Given the description of an element on the screen output the (x, y) to click on. 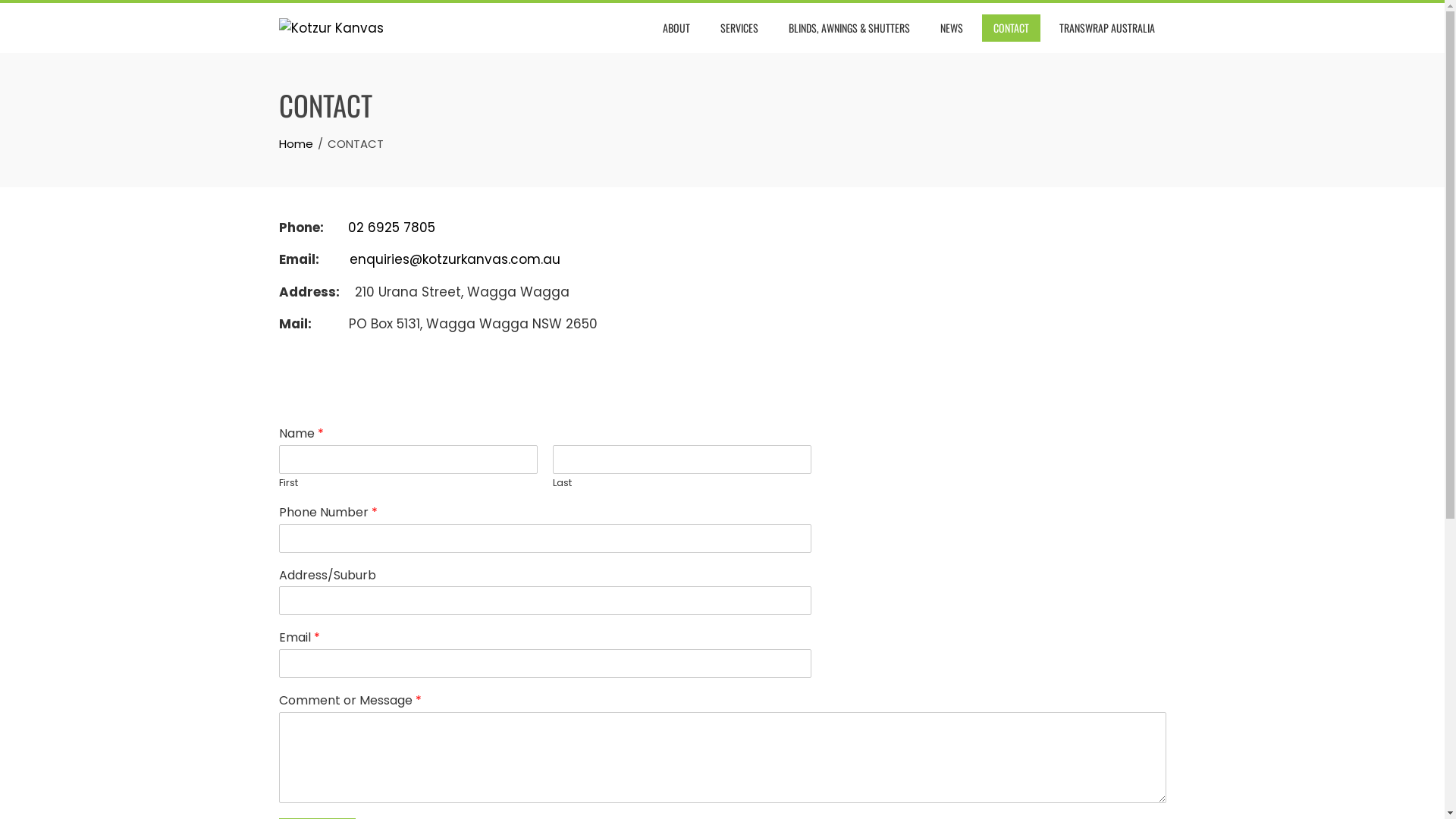
ABOUT Element type: text (675, 27)
NEWS Element type: text (950, 27)
BLINDS, AWNINGS & SHUTTERS Element type: text (848, 27)
CONTACT Element type: text (1010, 27)
Home Element type: text (296, 143)
SERVICES Element type: text (738, 27)
enquiries@kotzurkanvas.com.au Element type: text (453, 259)
TRANSWRAP AUSTRALIA Element type: text (1107, 27)
02 6925 7805 Element type: text (390, 227)
